Given the description of an element on the screen output the (x, y) to click on. 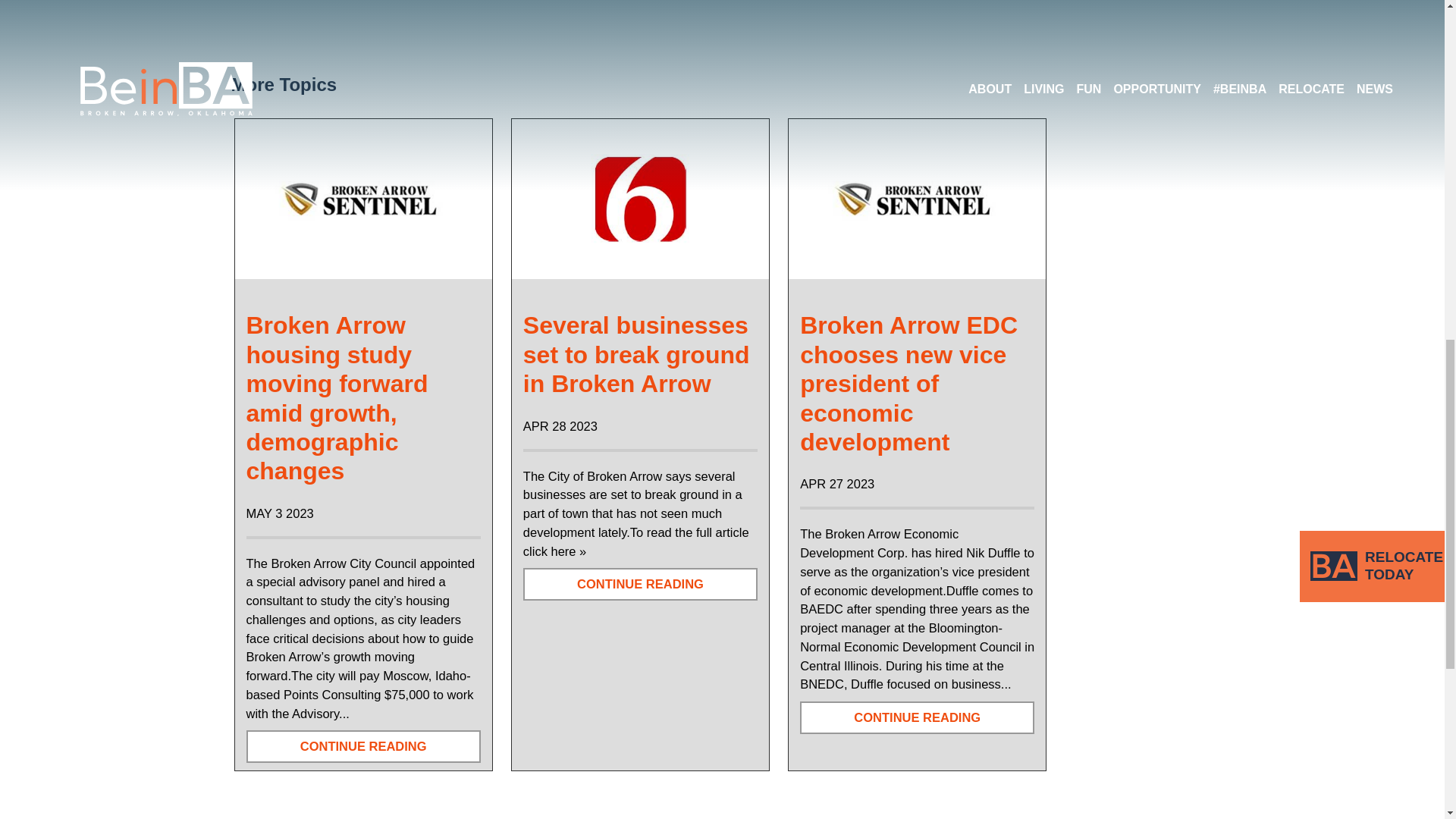
CONTINUE READING (916, 717)
Several businesses set to break ground in Broken Arrow (635, 354)
CONTINUE READING (363, 746)
CONTINUE READING (639, 584)
